Given the description of an element on the screen output the (x, y) to click on. 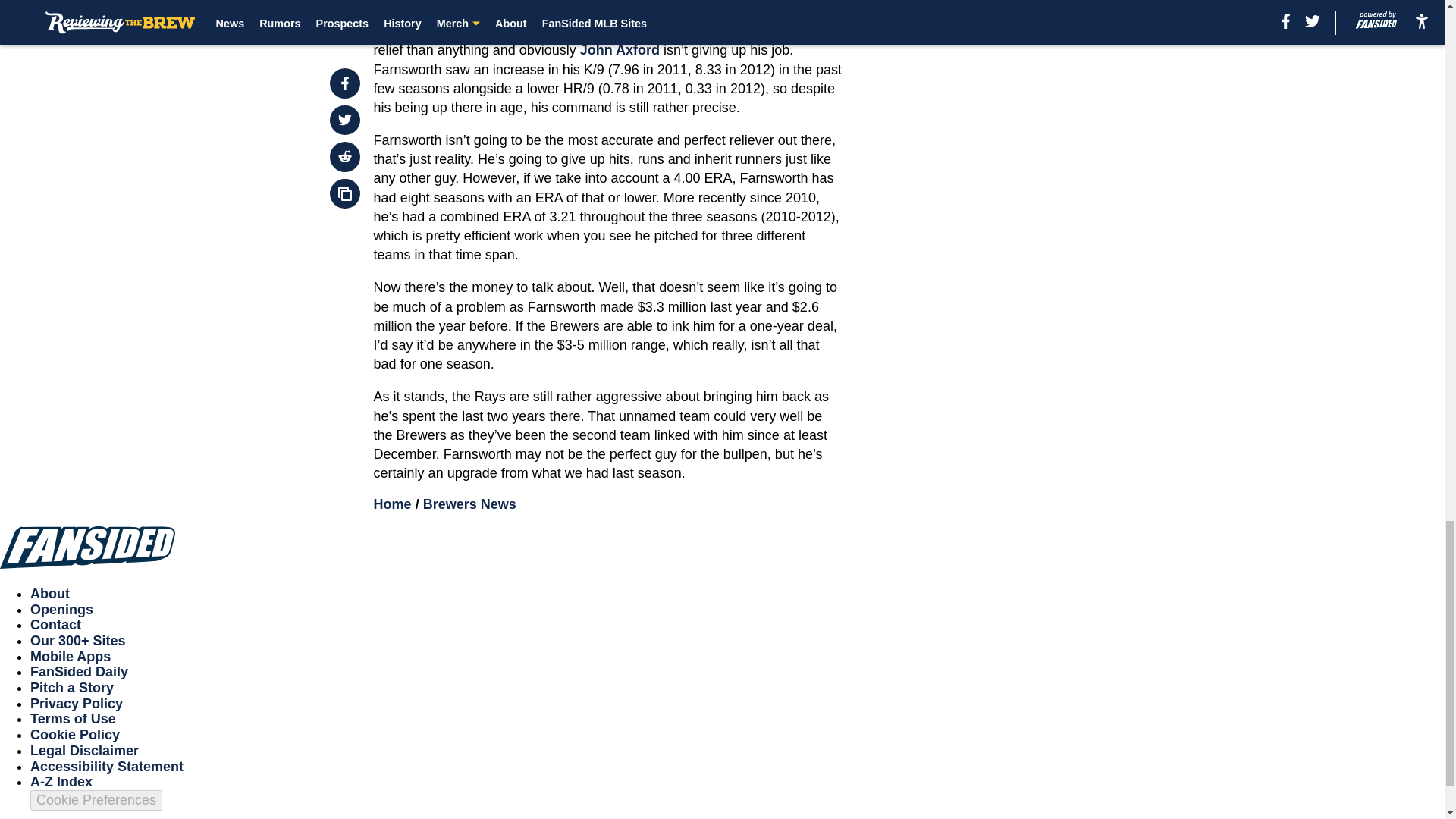
Brewers News (469, 503)
John Axford (619, 49)
Home (393, 503)
